Given the description of an element on the screen output the (x, y) to click on. 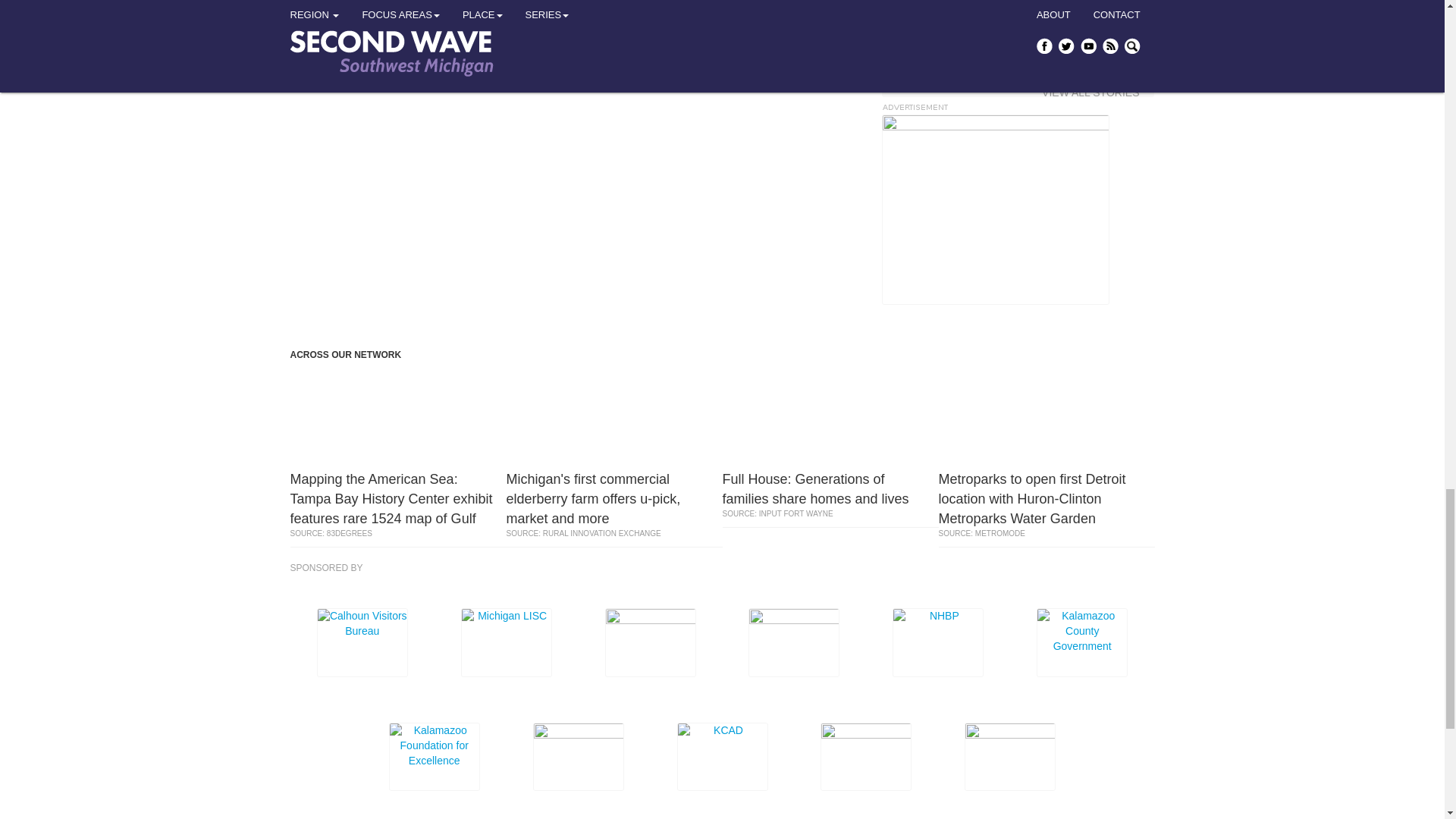
KCAD (574, 24)
Calhoun Visitors Bureau (362, 642)
Michigan LISC (506, 642)
